Given the description of an element on the screen output the (x, y) to click on. 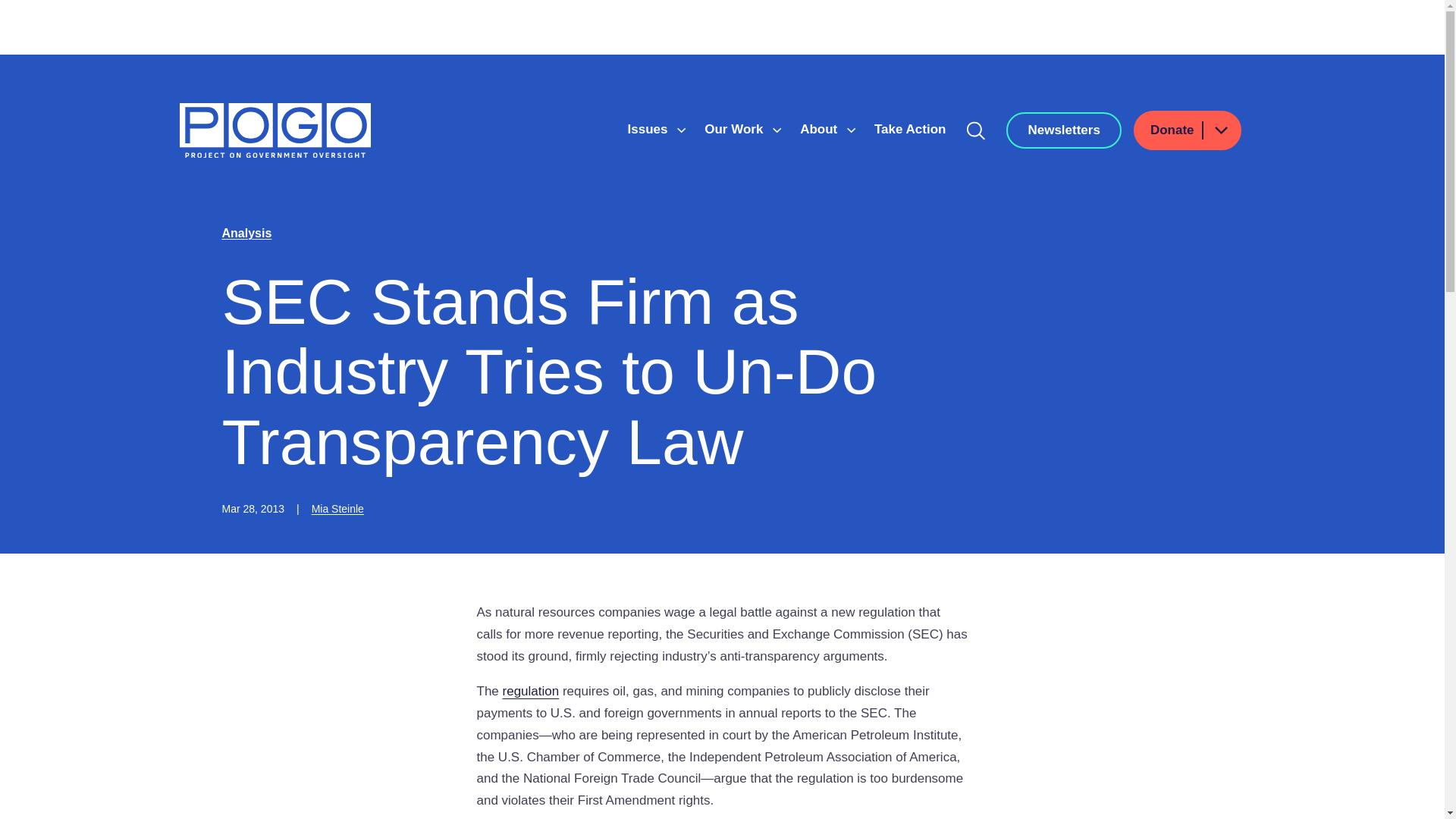
Newsletters (1063, 130)
Issues (649, 129)
Take Action (909, 129)
Home (274, 130)
Search (976, 130)
Show submenu for About (851, 130)
Show submenu for Issues (681, 130)
Show submenu for Our Work (777, 130)
Donate (1187, 130)
About (820, 129)
Show submenu for Donate (1220, 129)
Our Work (735, 129)
